Given the description of an element on the screen output the (x, y) to click on. 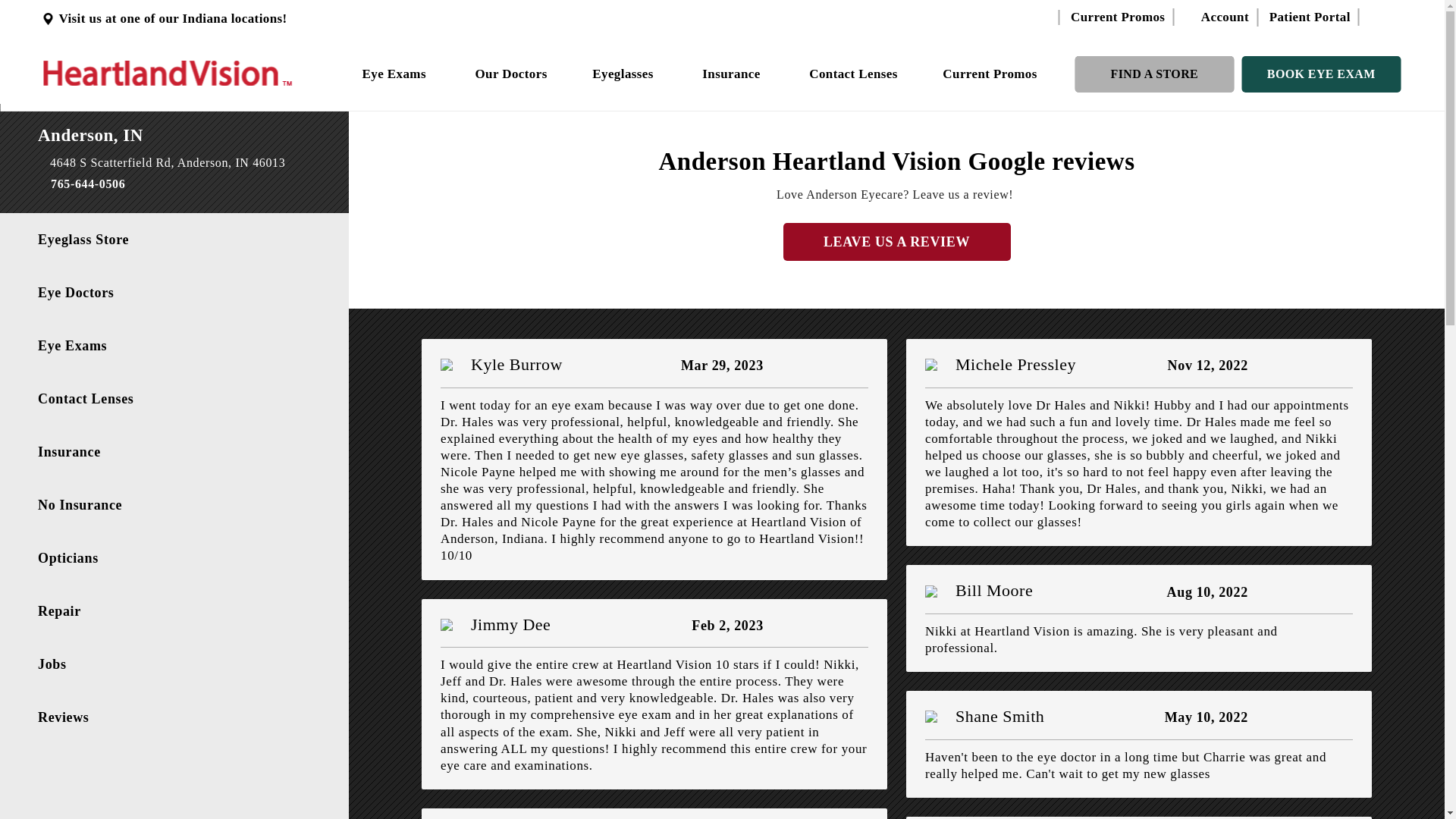
Patient Portal (1310, 16)
Eye Exams (396, 73)
Contact Lenses (853, 73)
Our Doctors (510, 73)
Indiana Eye Care Center (168, 72)
Eyeglasses (625, 73)
Current Promos (1117, 16)
Account (1216, 16)
Get the best value, with or without insurance (732, 73)
Eye Exams (396, 73)
